Given the description of an element on the screen output the (x, y) to click on. 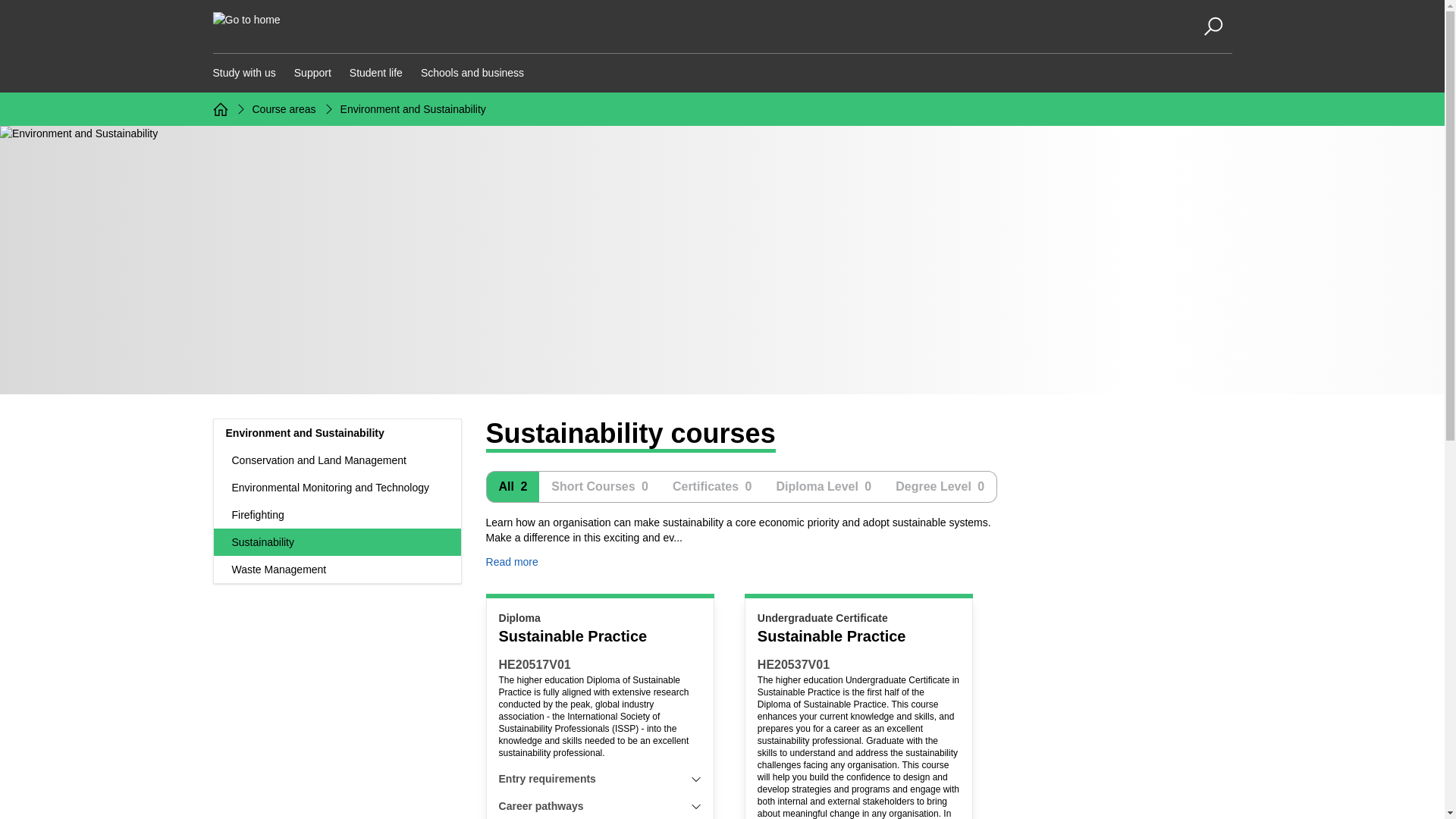
Study with us (243, 72)
Go to homepage (219, 109)
show requirements (695, 778)
show requirements (695, 805)
